Given the description of an element on the screen output the (x, y) to click on. 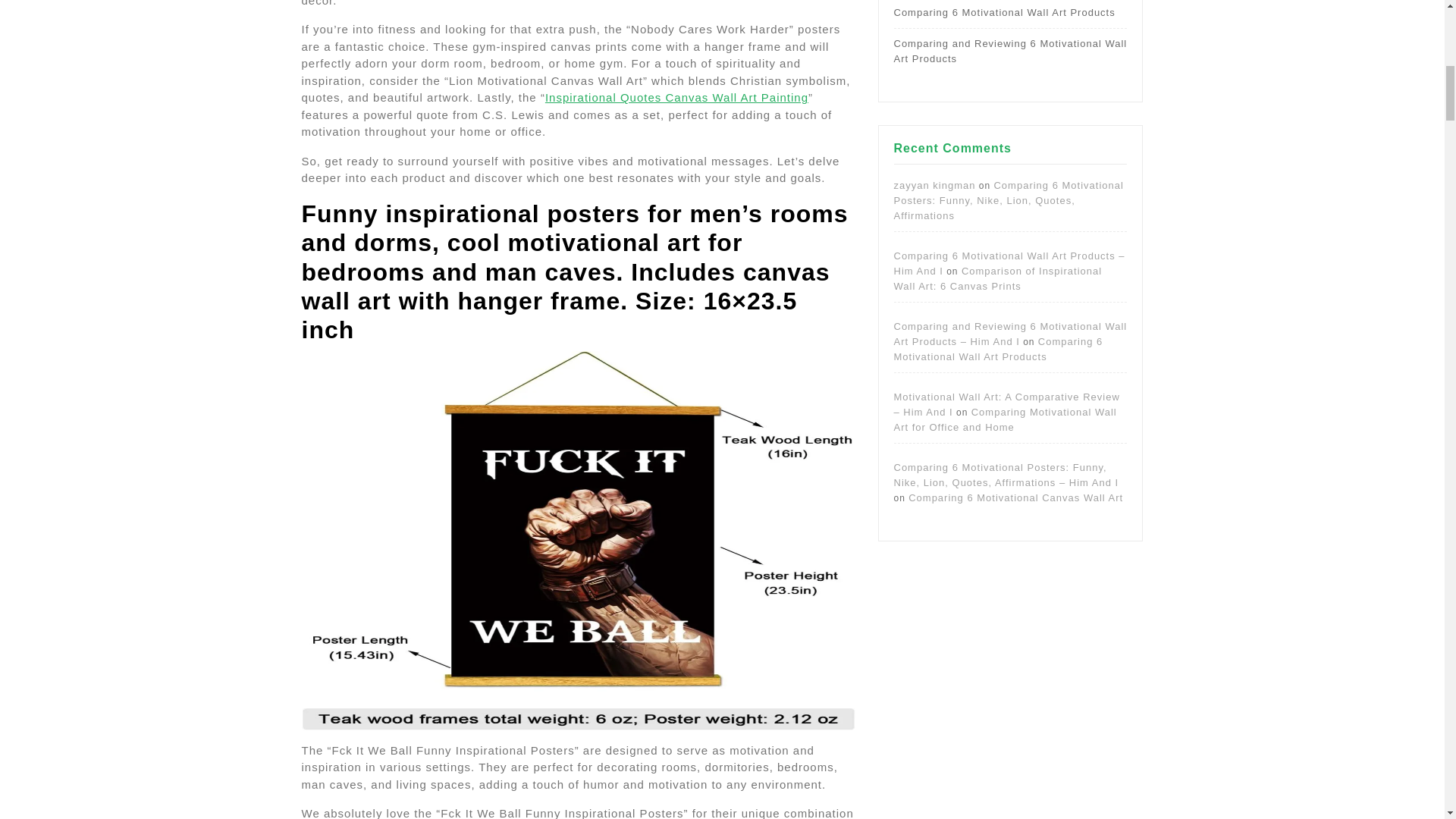
Comparing 6 Motivational Wall Art Products (1004, 12)
Inspirational Quotes Canvas Wall Art Painting (676, 97)
Comparing and Reviewing 6 Motivational Wall Art Products (1009, 50)
zayyan kingman (934, 184)
Comparison of Inspirational Wall Art: 6 Canvas Prints (997, 278)
